Given the description of an element on the screen output the (x, y) to click on. 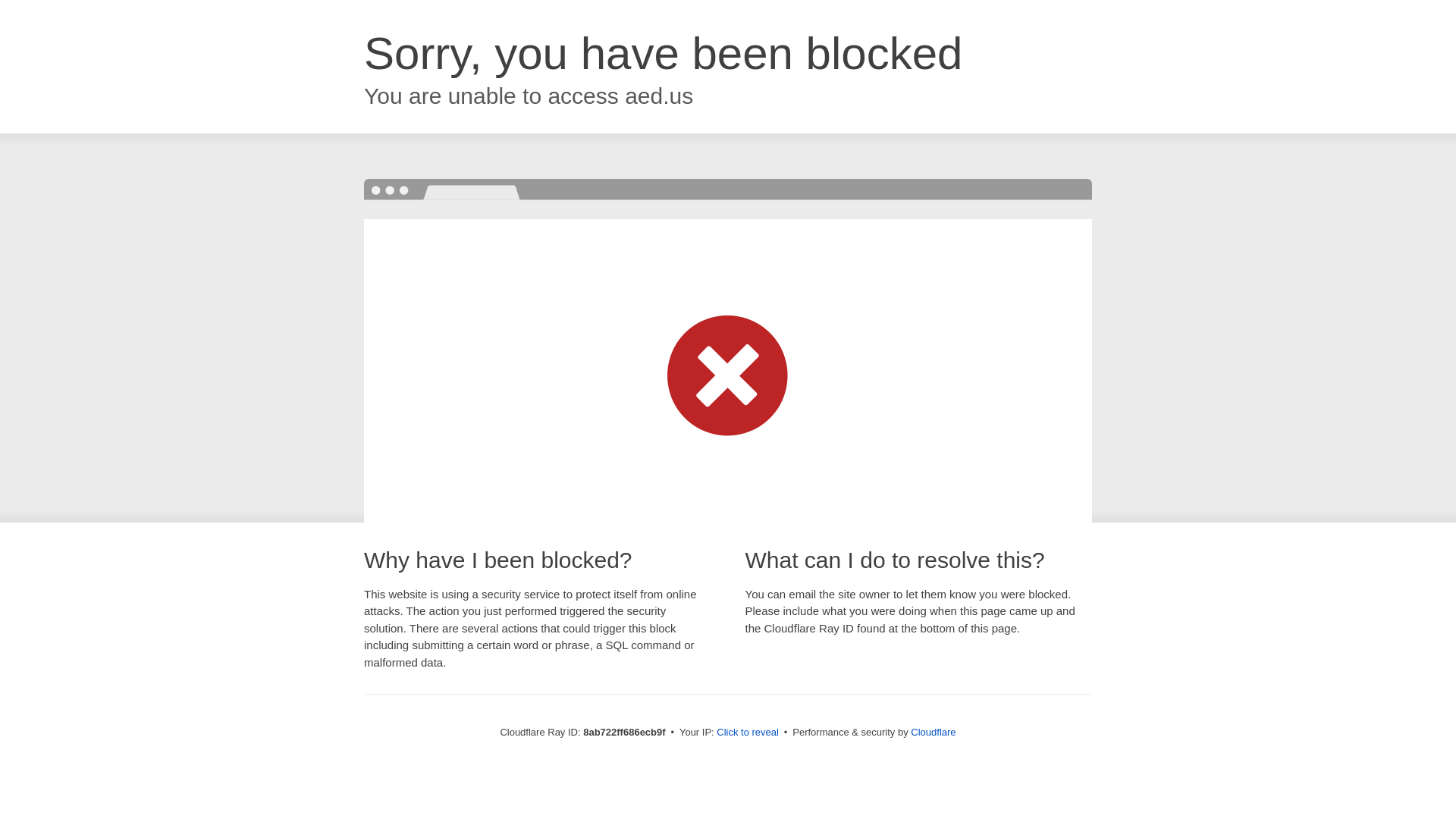
Click to reveal (747, 732)
Cloudflare (933, 731)
